Given the description of an element on the screen output the (x, y) to click on. 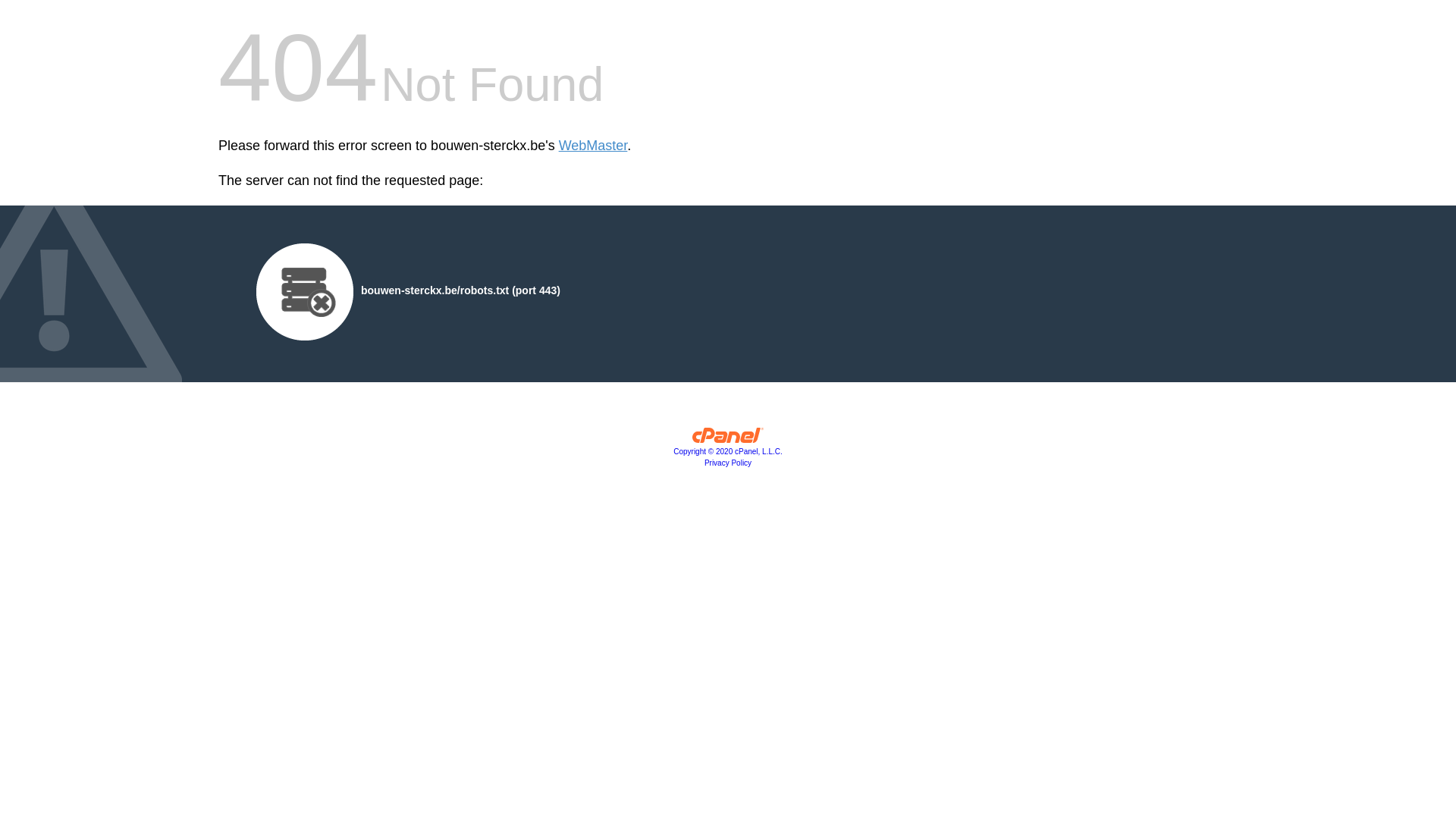
cPanel, Inc. Element type: hover (728, 439)
WebMaster Element type: text (592, 145)
Privacy Policy Element type: text (727, 462)
